Given the description of an element on the screen output the (x, y) to click on. 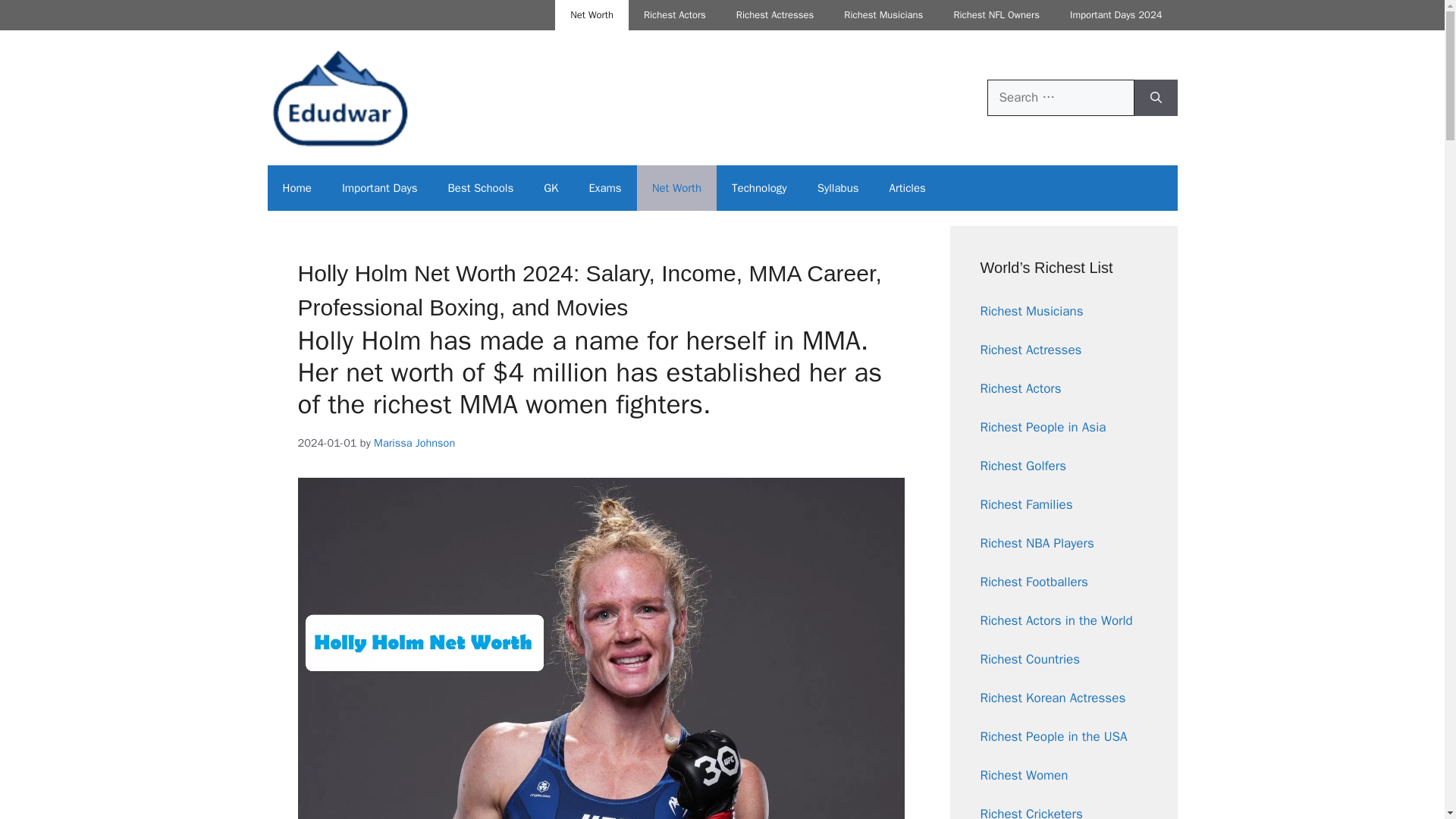
Richest NFL Owners (995, 15)
Articles (907, 187)
Best Schools (480, 187)
Exams (604, 187)
View all posts by Marissa Johnson (414, 442)
Important Days 2024 (1115, 15)
Richest Actors (674, 15)
Net Worth (591, 15)
Search for: (1060, 97)
Net Worth (676, 187)
Syllabus (838, 187)
Technology (759, 187)
Marissa Johnson (414, 442)
GK (550, 187)
Richest Actresses (774, 15)
